Given the description of an element on the screen output the (x, y) to click on. 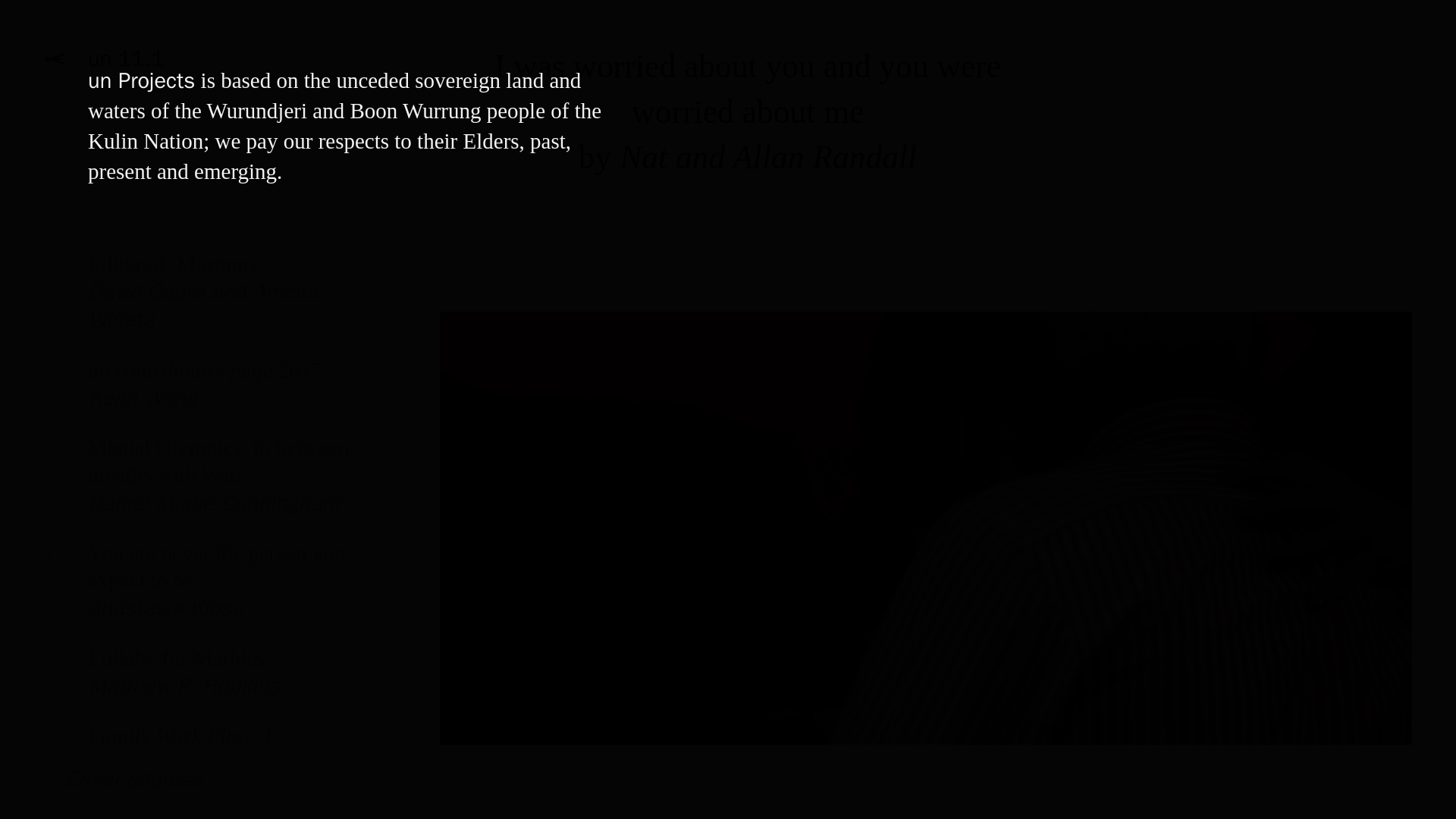
Nat and Allan Randall (768, 156)
Posts by Nat and Allan Randall (768, 156)
